Given the description of an element on the screen output the (x, y) to click on. 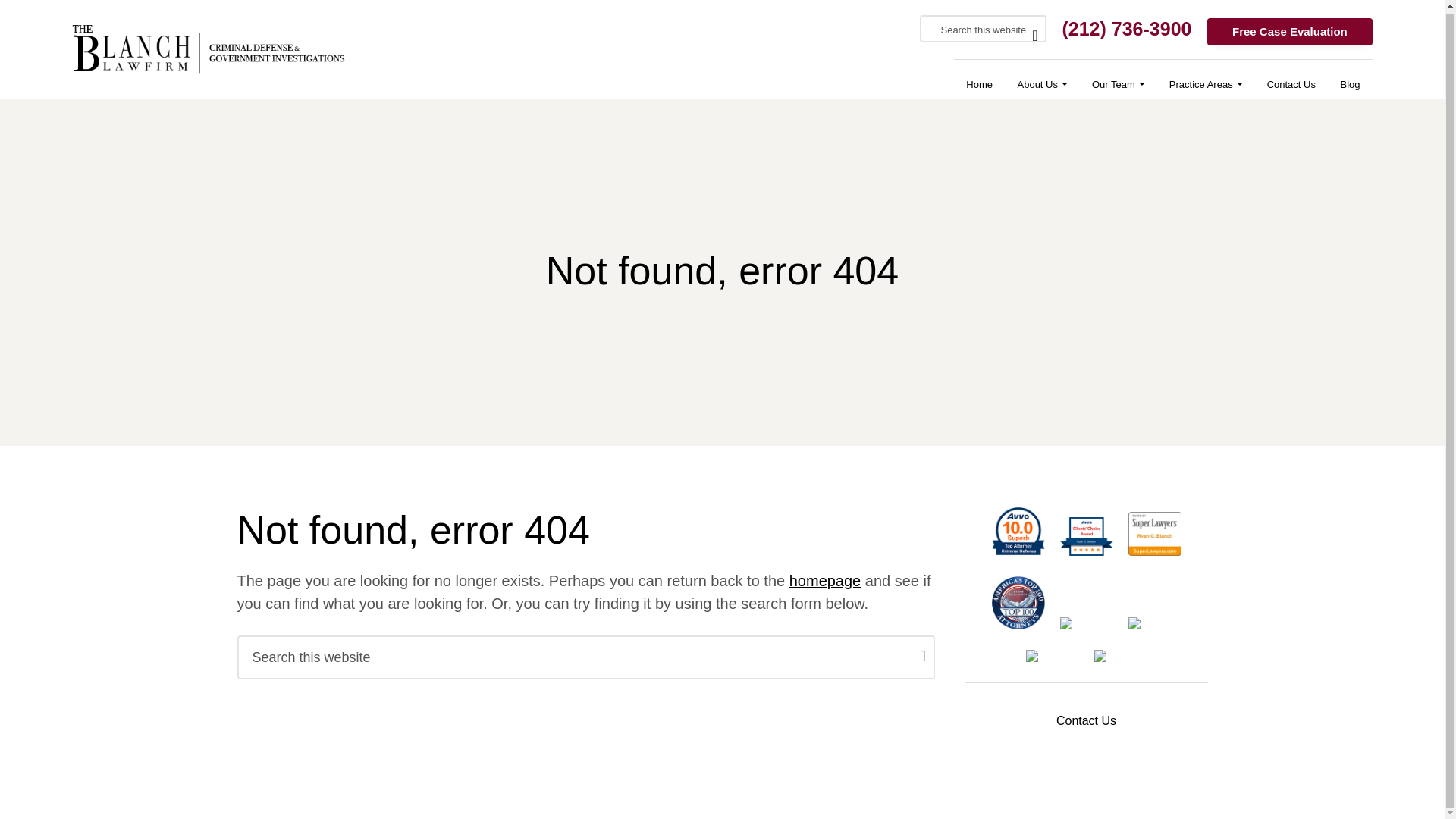
Home (978, 81)
Contact Us (1290, 81)
Search (25, 12)
Our Team (1118, 81)
Blog (1350, 81)
About Us (1041, 81)
Practice Areas (1206, 81)
Free Case Evaluation (1290, 28)
The Blanch Law Firm (136, 52)
